Given the description of an element on the screen output the (x, y) to click on. 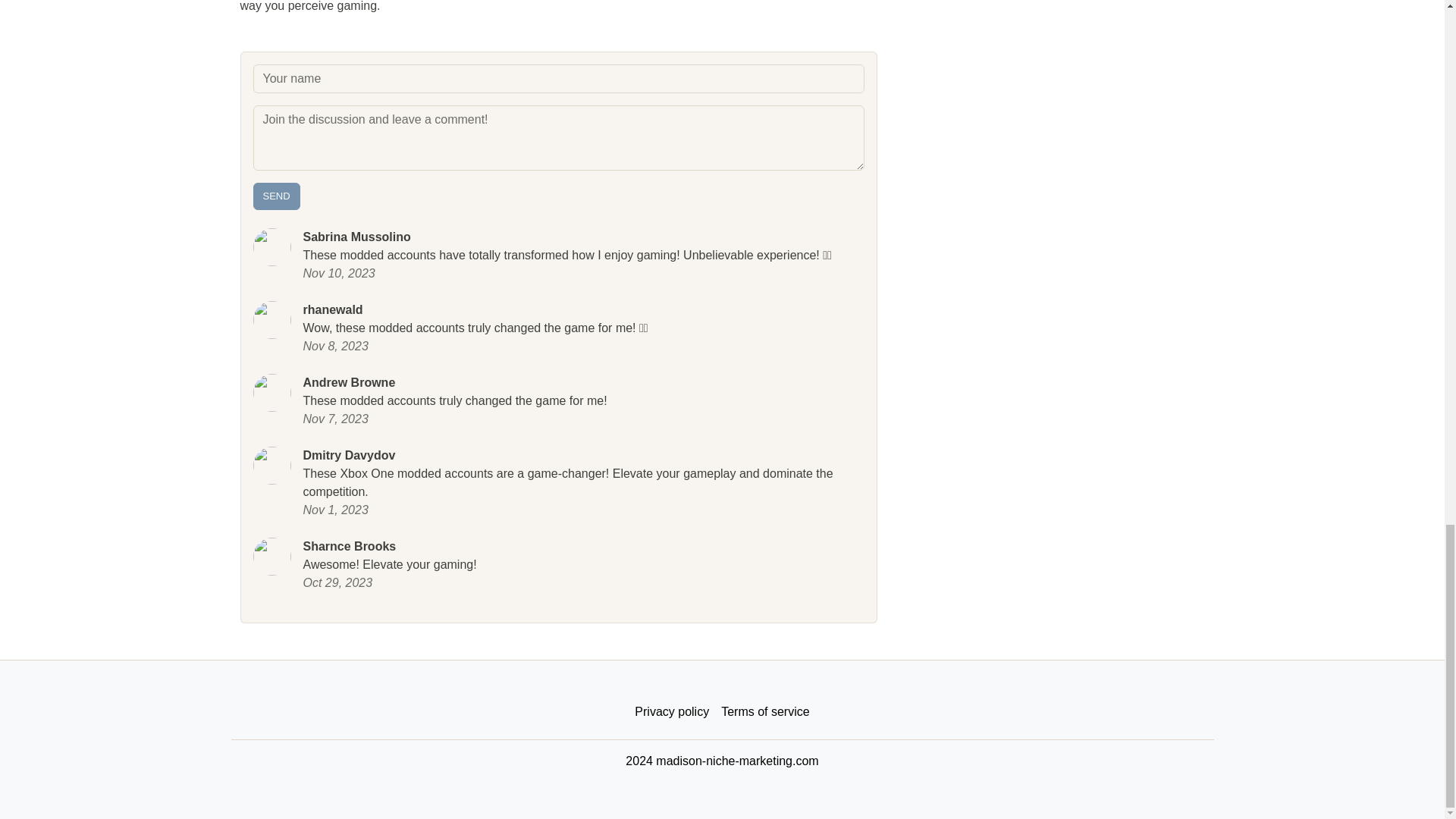
Send (276, 195)
Privacy policy (671, 711)
Send (276, 195)
Terms of service (764, 711)
